Given the description of an element on the screen output the (x, y) to click on. 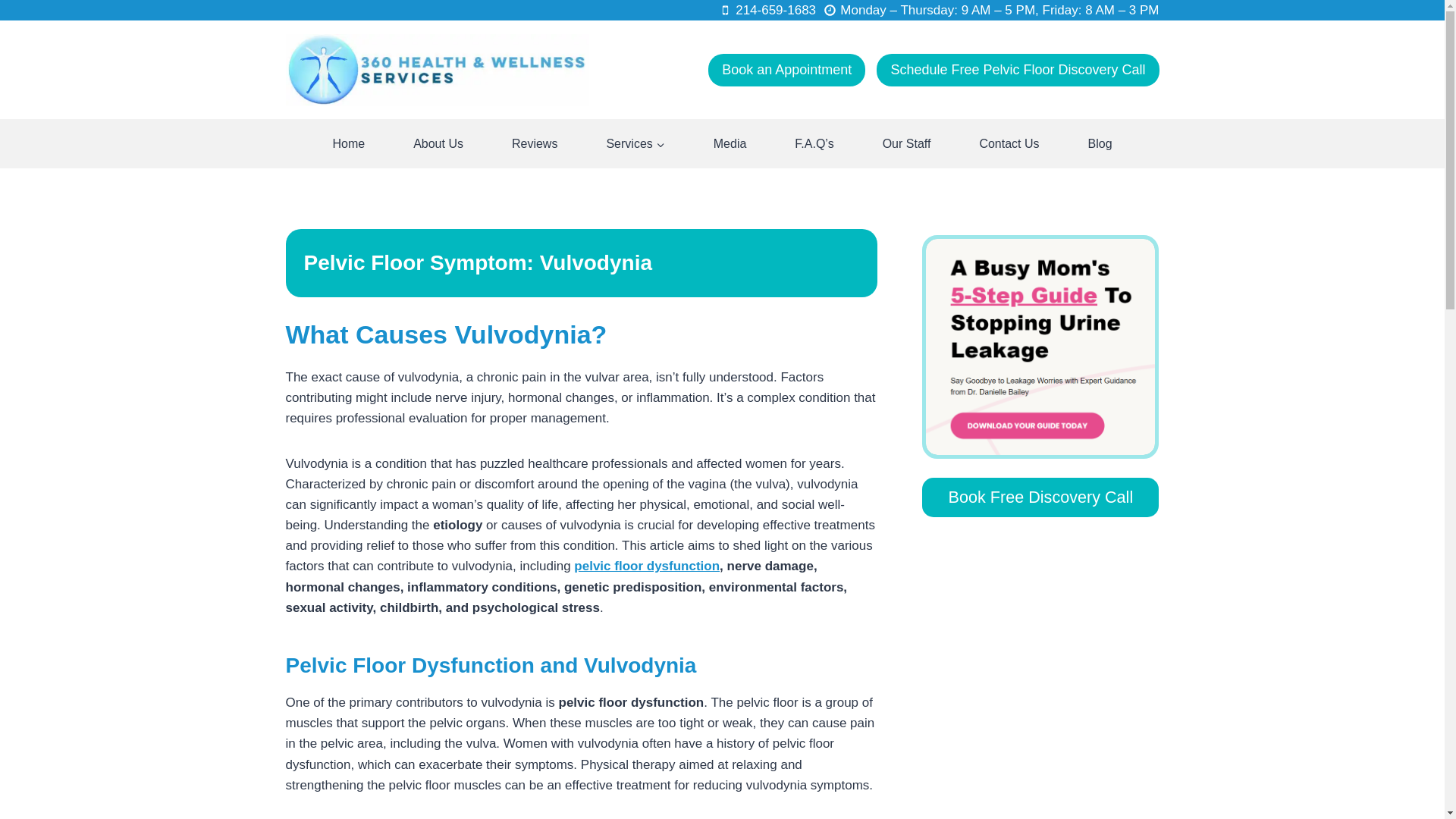
About Us (437, 143)
Reviews (533, 143)
Contact Us (1008, 143)
pelvic floor dysfunction (646, 565)
Services (634, 143)
Blog (1100, 143)
Book an Appointment (785, 70)
Book Free Discovery Call (1039, 496)
Our Staff (907, 143)
Schedule Free Pelvic Floor Discovery Call (1017, 70)
